Given the description of an element on the screen output the (x, y) to click on. 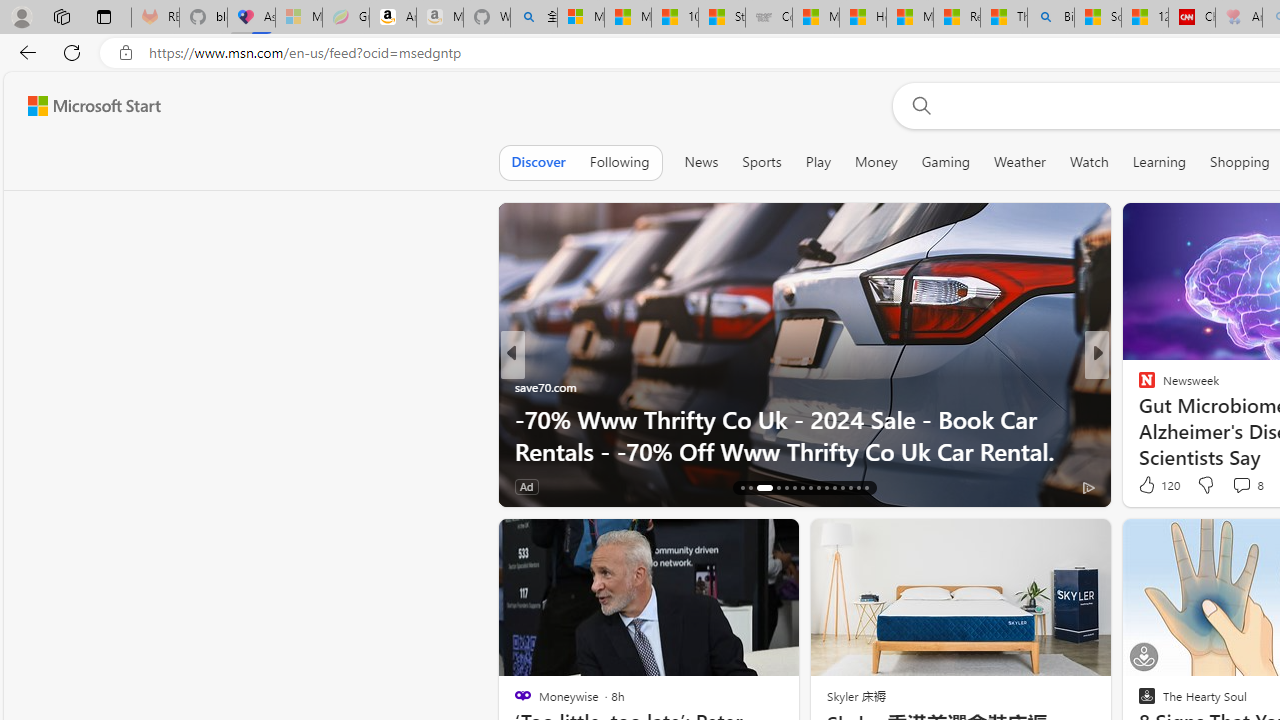
AutomationID: tab-27 (842, 487)
View comments 2 Comment (1241, 486)
View comments 8 Comment (1247, 484)
823 Like (1151, 486)
20 Like (1149, 486)
View comments 68 Comment (1234, 485)
Inc. (1138, 386)
View comments 68 Comment (1244, 486)
Health Digest (1138, 418)
Daily Mail (1138, 386)
